Given the description of an element on the screen output the (x, y) to click on. 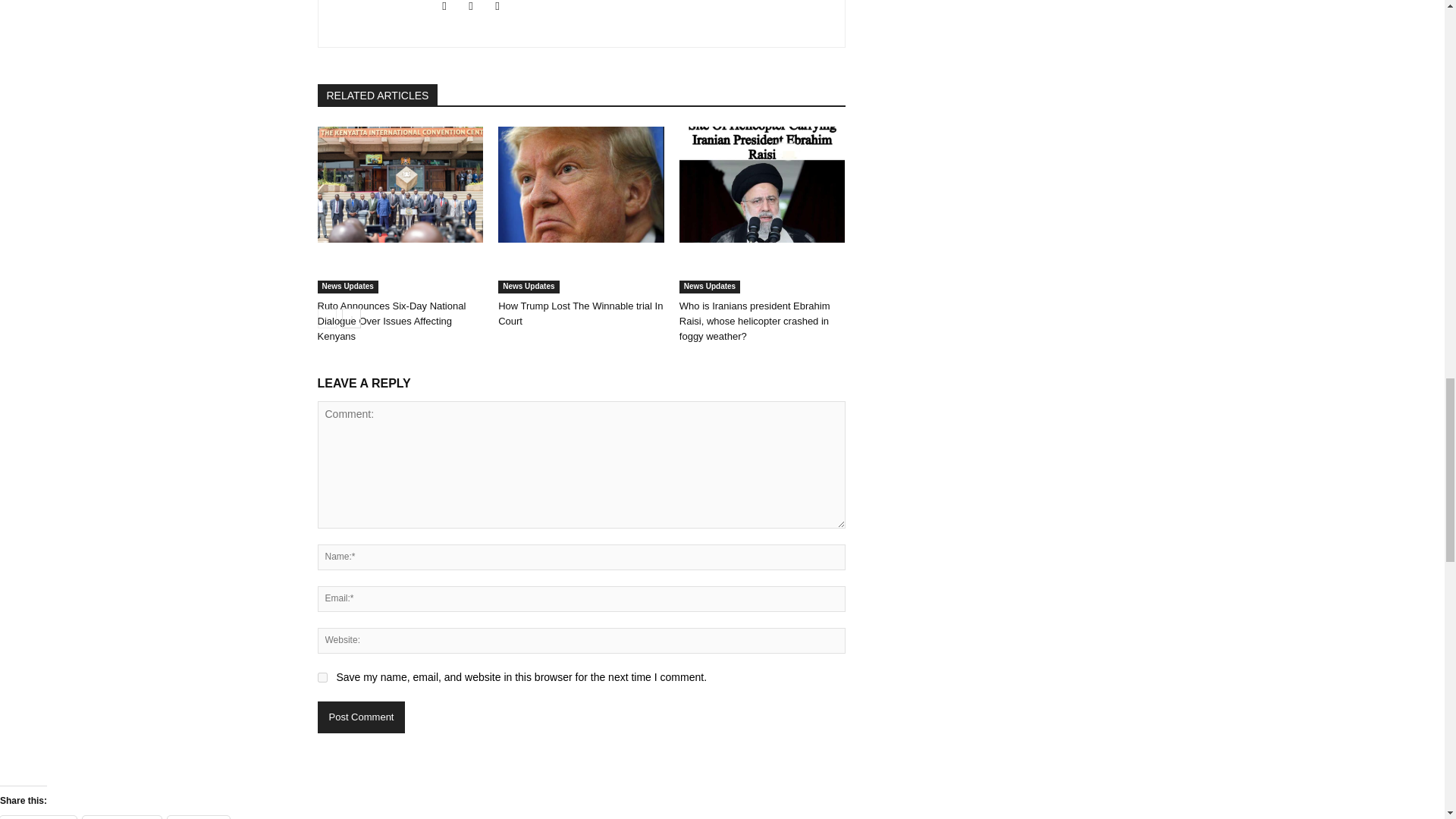
yes (321, 677)
Post Comment (360, 717)
